Given the description of an element on the screen output the (x, y) to click on. 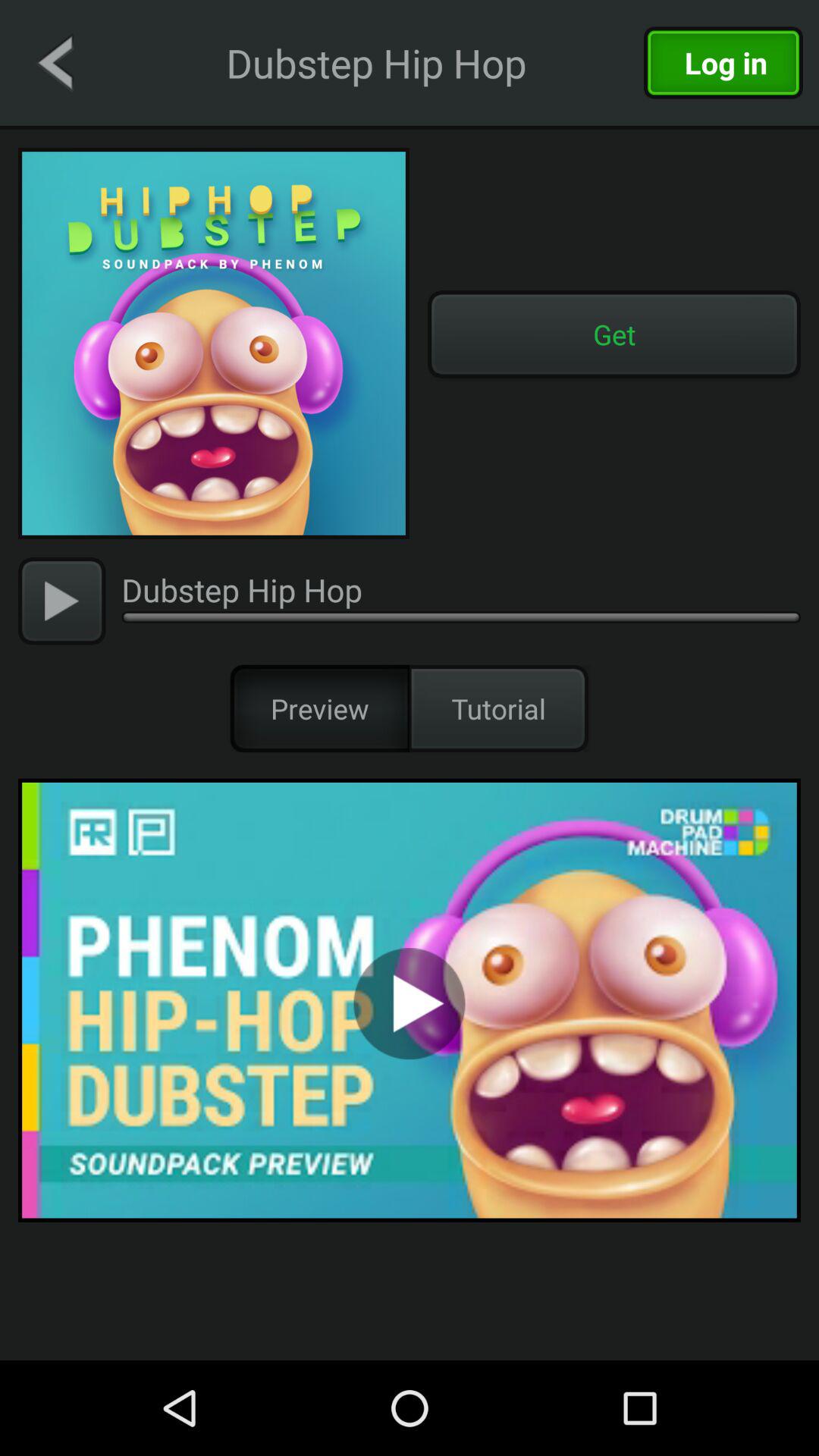
turn on item to the right of preview item (498, 708)
